Given the description of an element on the screen output the (x, y) to click on. 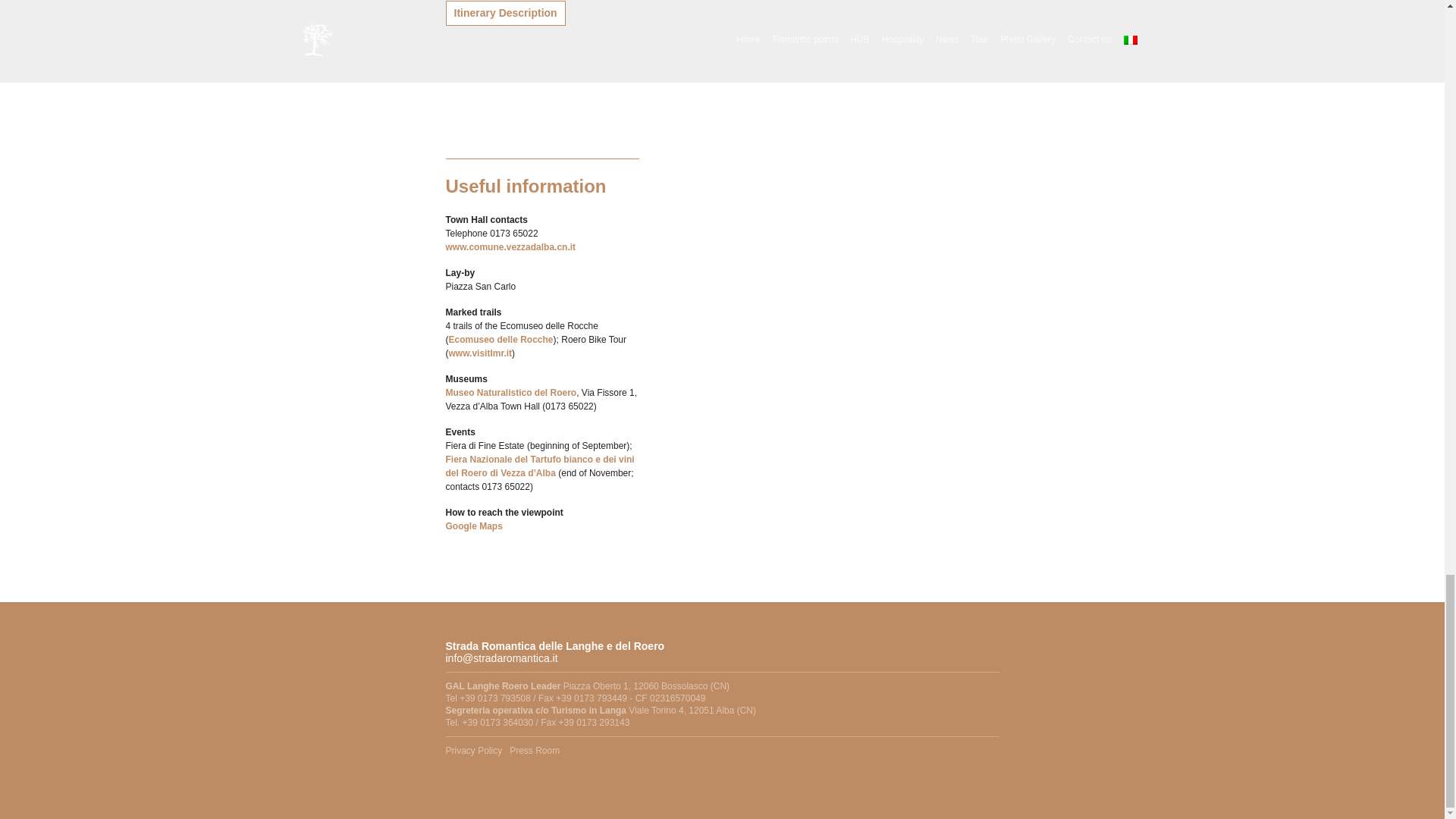
Itinerary Description (505, 12)
www.visitlmr.it (480, 353)
Museo Naturalistico del Roero (510, 392)
Press Room (534, 750)
Google Maps (473, 525)
Privacy Policy (473, 750)
Privacy Policy (473, 750)
Press Room (534, 750)
www.comune.vezzadalba.cn.it (510, 246)
Ecomuseo delle Rocche (500, 339)
